Given the description of an element on the screen output the (x, y) to click on. 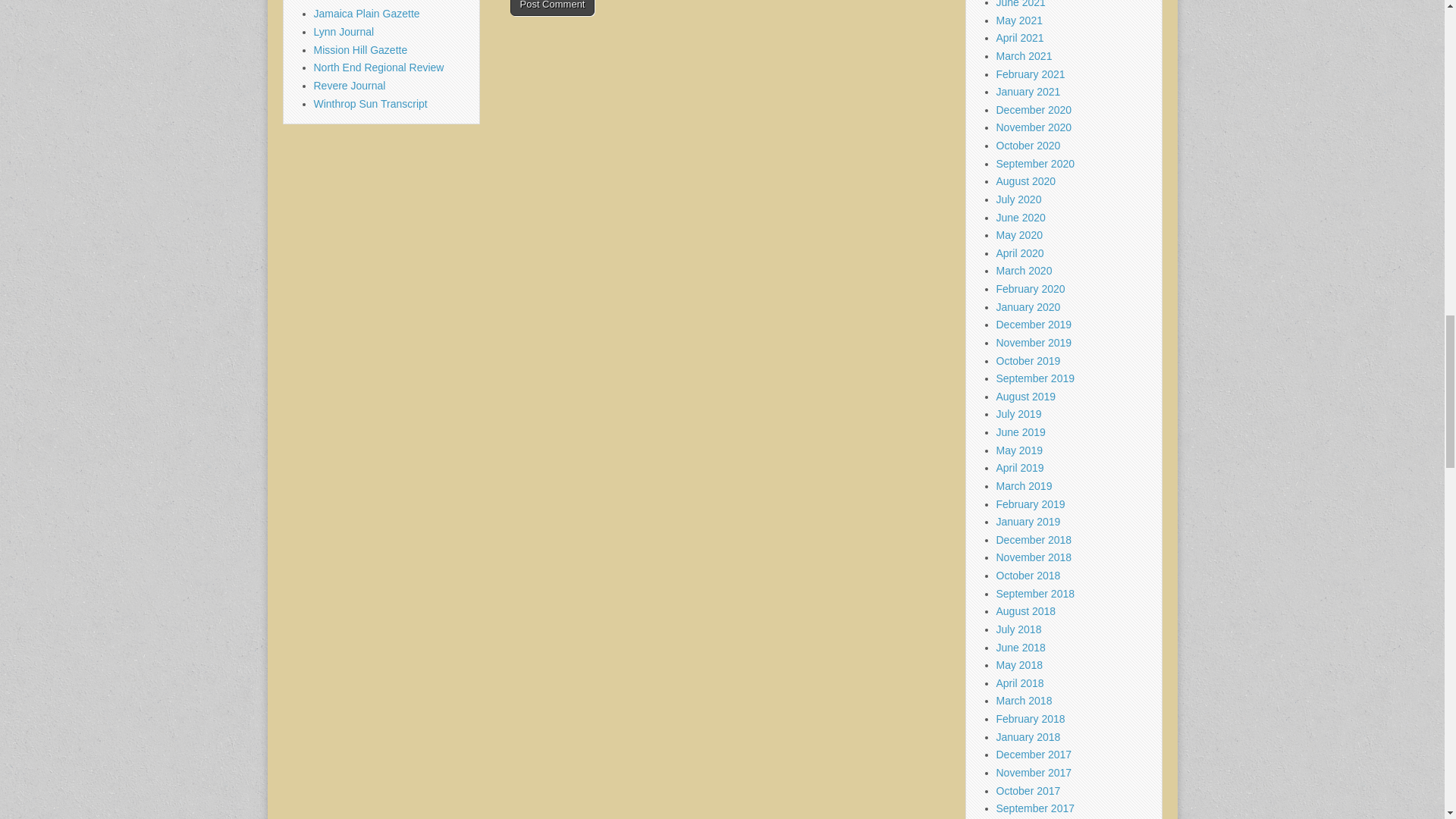
Post Comment (551, 7)
East Boston Times Free Press (385, 1)
Lynn Journal (344, 31)
Jamaica Plain Gazette (367, 13)
Post Comment (551, 7)
